Given the description of an element on the screen output the (x, y) to click on. 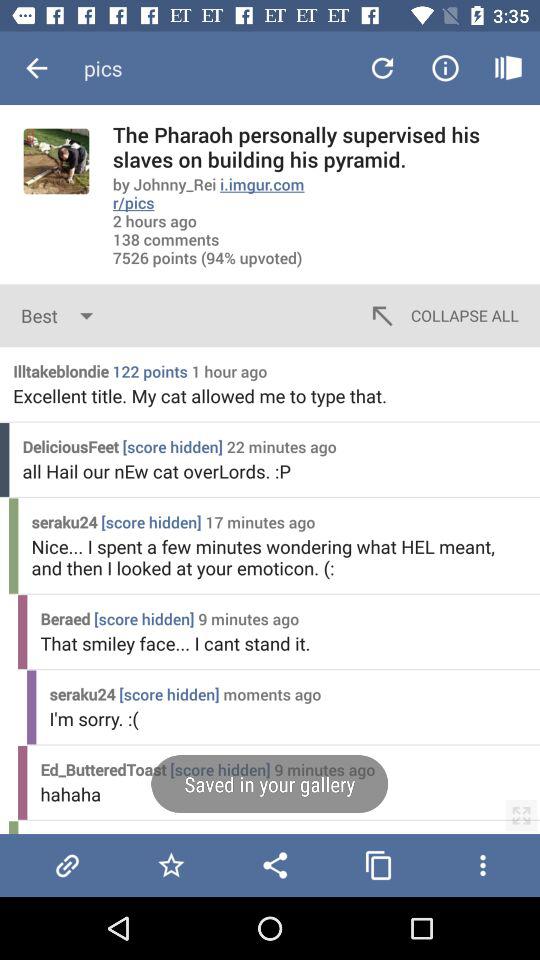
tap icon to the left of the pics icon (36, 68)
